Given the description of an element on the screen output the (x, y) to click on. 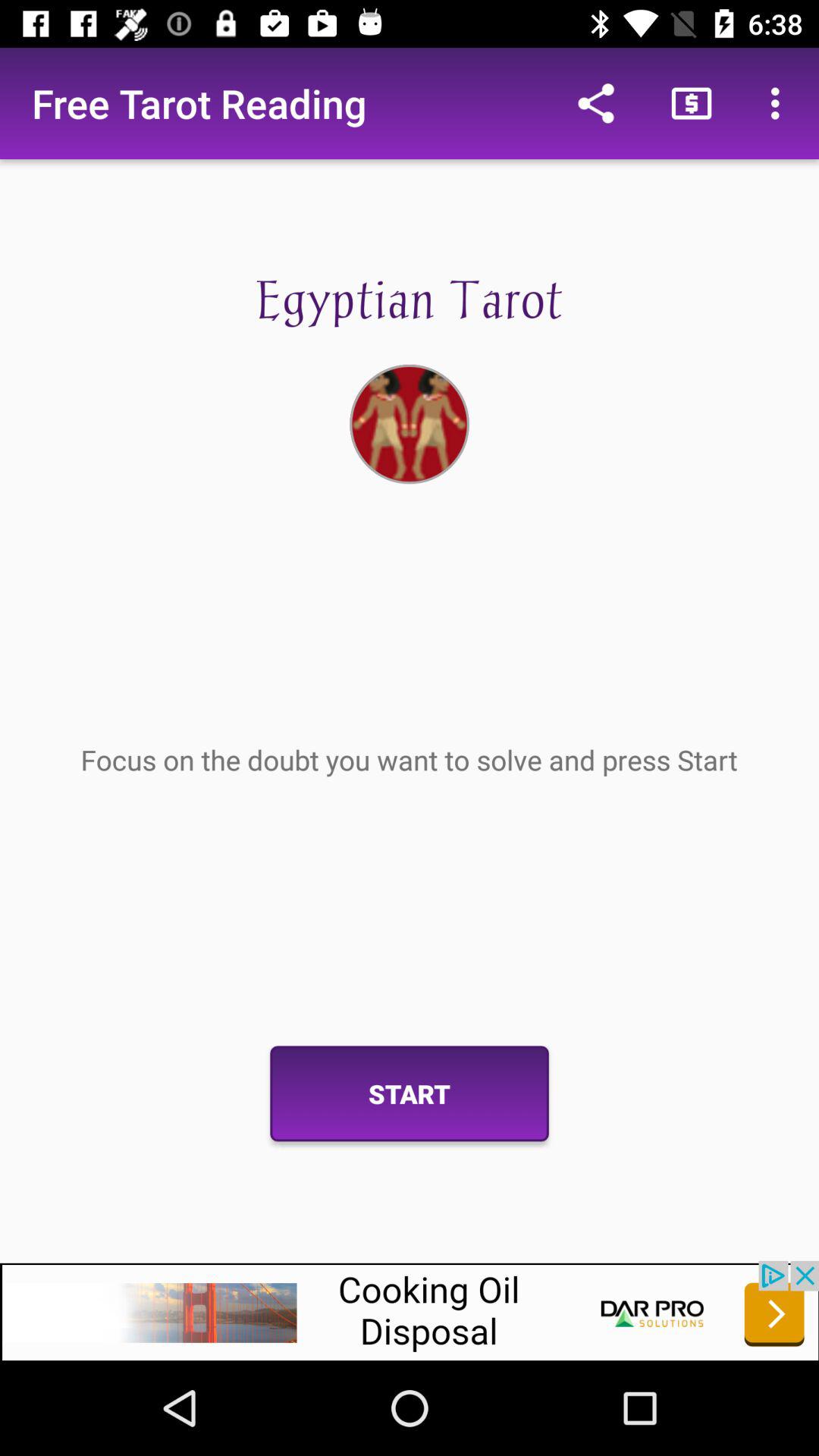
select oil advertisement (409, 1310)
